Given the description of an element on the screen output the (x, y) to click on. 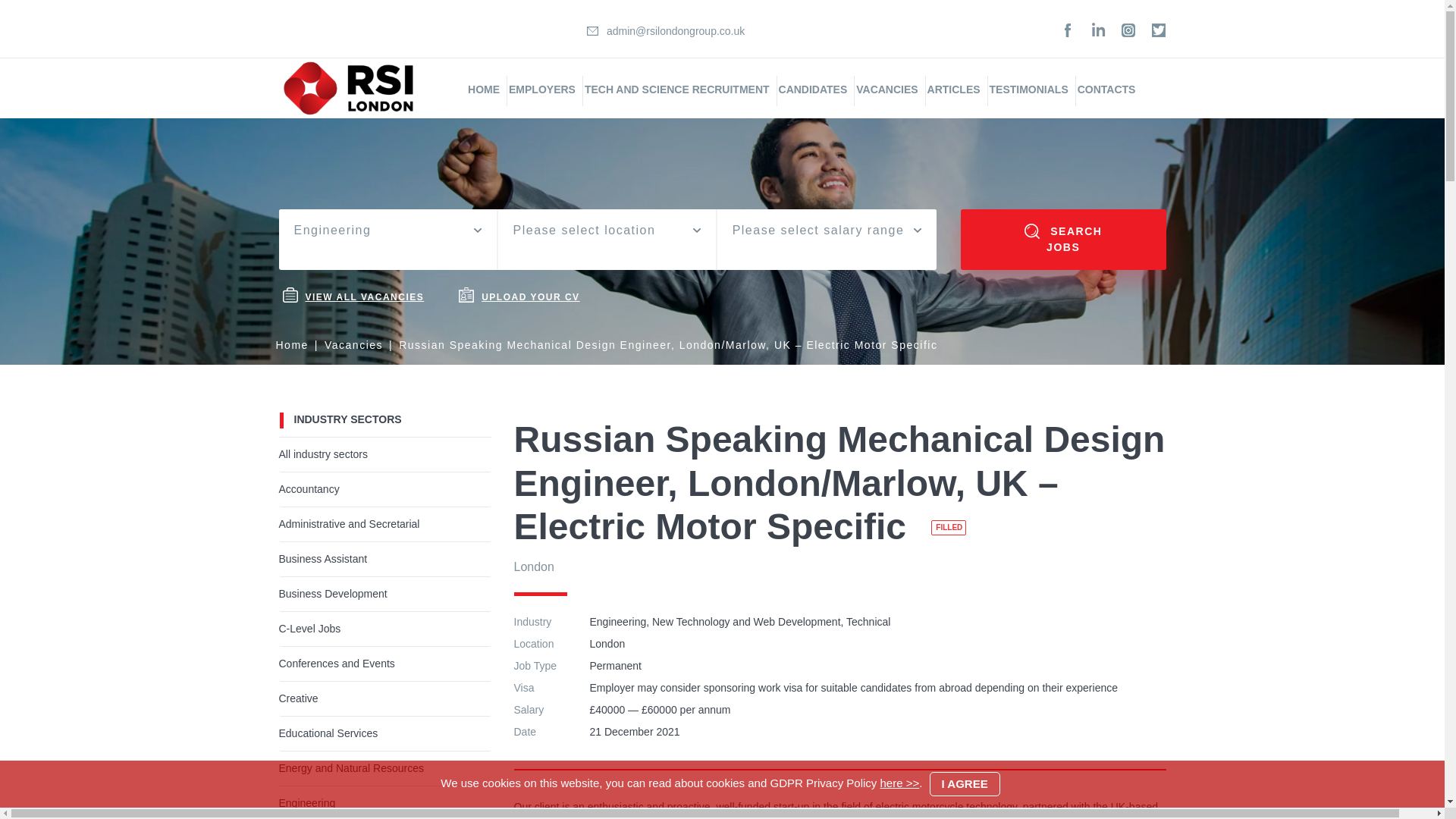
Twitter (1158, 29)
VACANCIES (886, 89)
CANDIDATES (812, 89)
Business Development (385, 593)
Administrative and Secretarial (385, 524)
Business Assistant (385, 559)
TESTIMONIALS (1029, 89)
Vacancies (353, 345)
Accountancy (385, 489)
Conferences and Events (385, 663)
TECH AND SCIENCE RECRUITMENT (677, 89)
CONTACTS (1106, 89)
I AGREE (965, 784)
Facebook (1067, 29)
Home (292, 345)
